Given the description of an element on the screen output the (x, y) to click on. 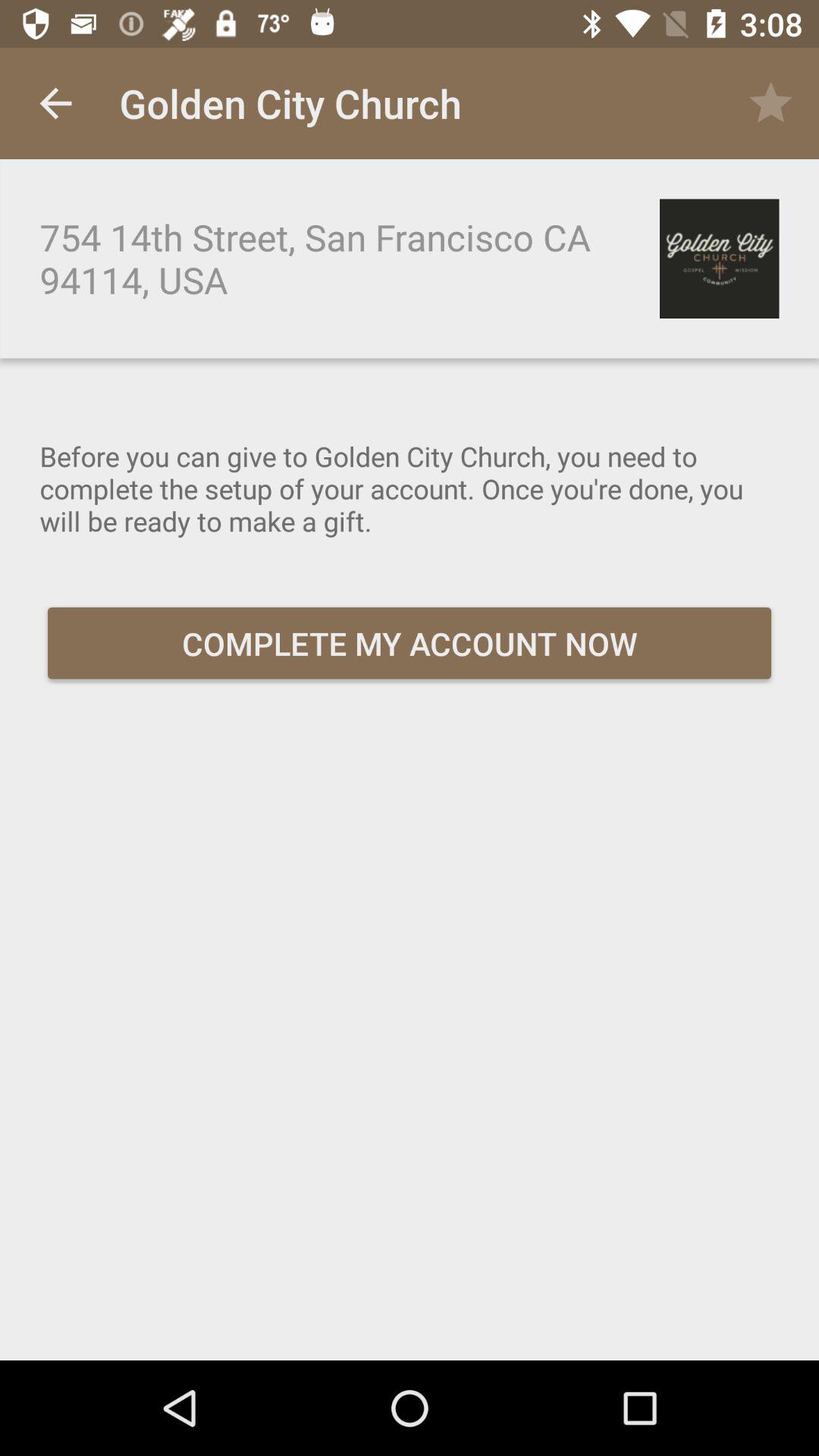
choose icon to the right of golden city church (771, 103)
